Given the description of an element on the screen output the (x, y) to click on. 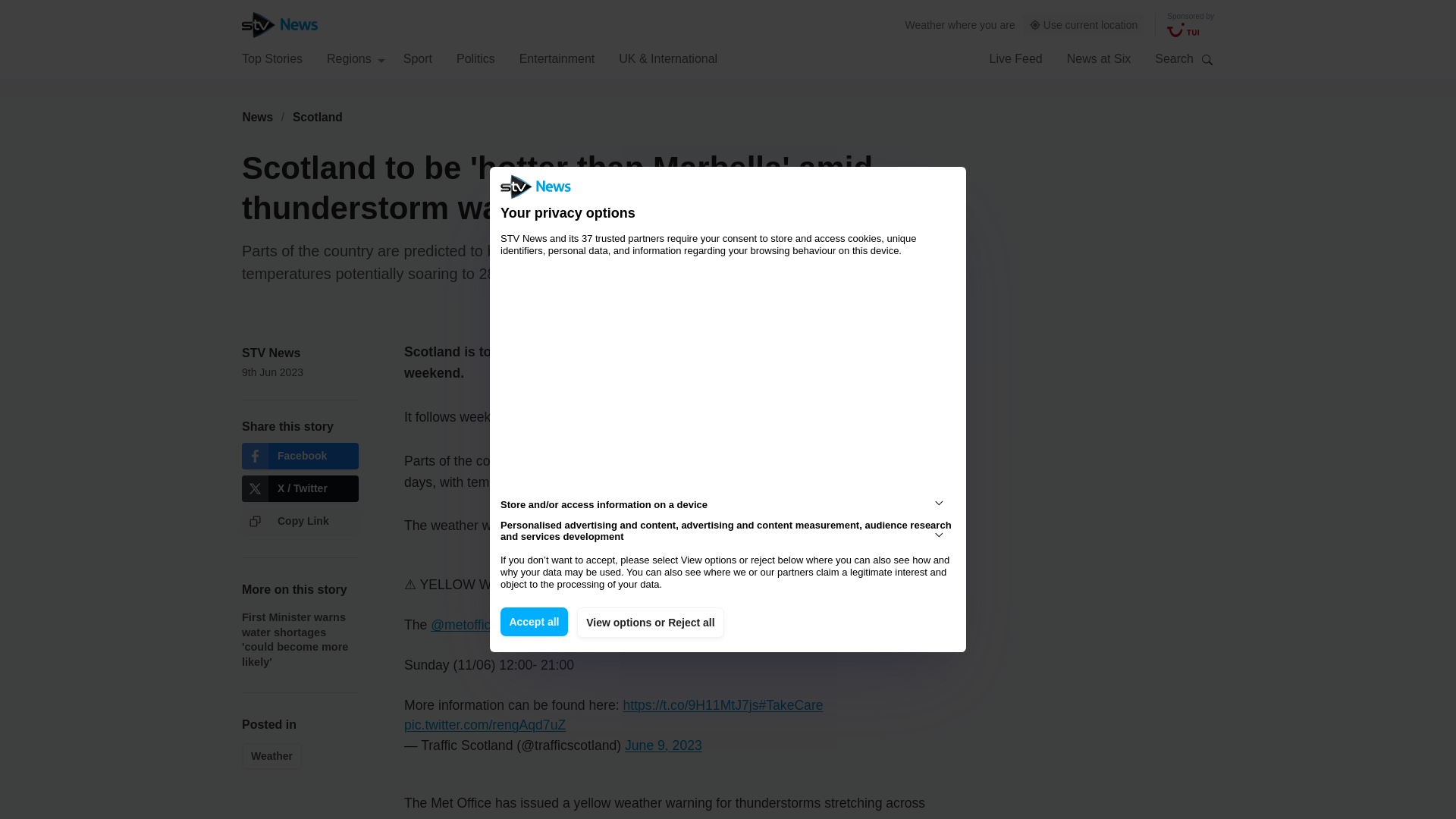
Use current location (1083, 25)
Scotland (317, 116)
Entertainment (557, 57)
News at Six (1099, 57)
News (257, 116)
Top Stories (271, 57)
Live Feed (1015, 57)
Search (1206, 59)
Regions (355, 57)
